Given the description of an element on the screen output the (x, y) to click on. 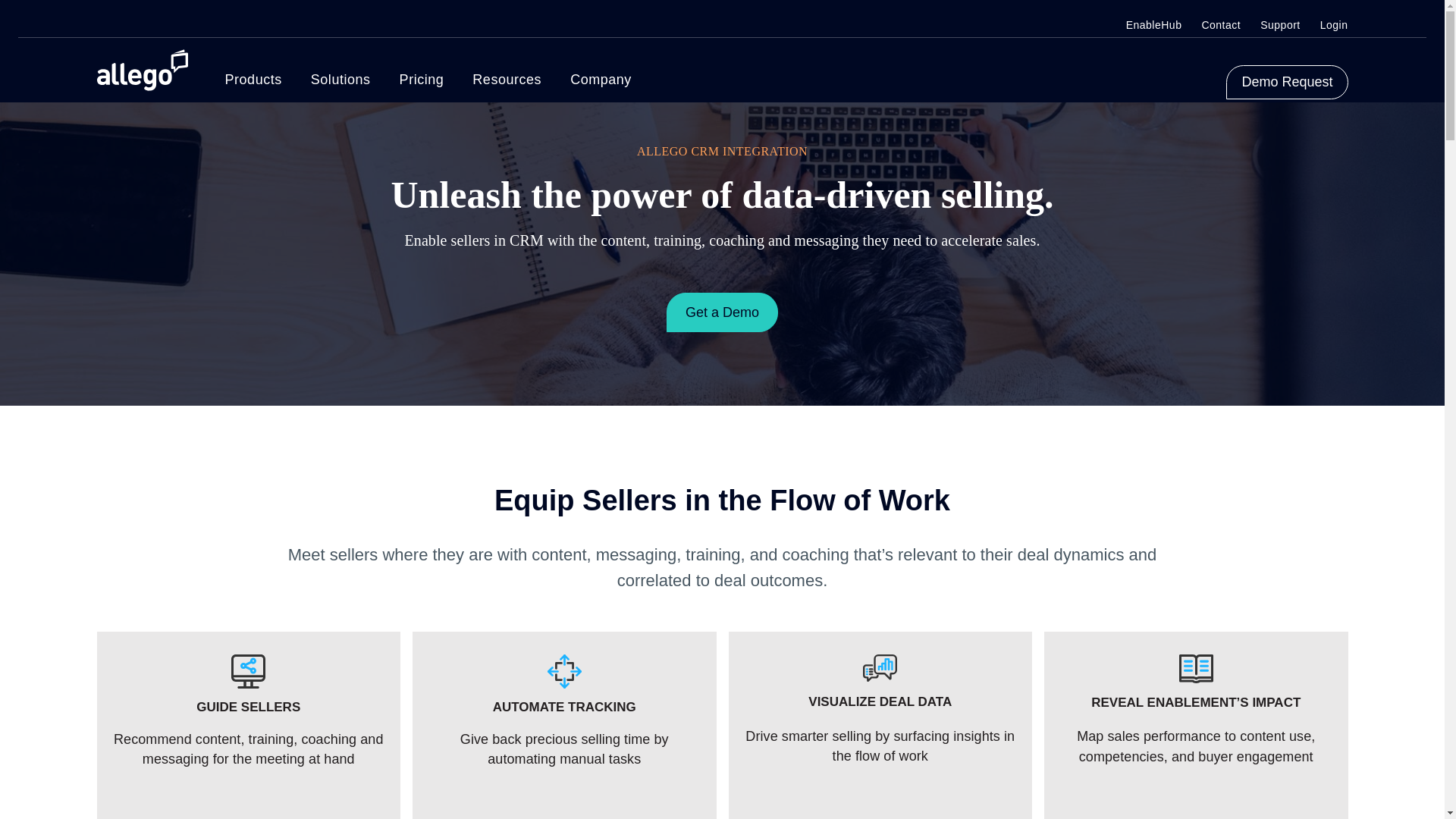
Login (1334, 25)
Contact (1220, 25)
Solutions (341, 79)
Demo Request (1286, 82)
Pricing (421, 79)
Support (1280, 25)
Resources (506, 79)
Products (252, 79)
Company (600, 79)
EnableHub (1153, 25)
